Given the description of an element on the screen output the (x, y) to click on. 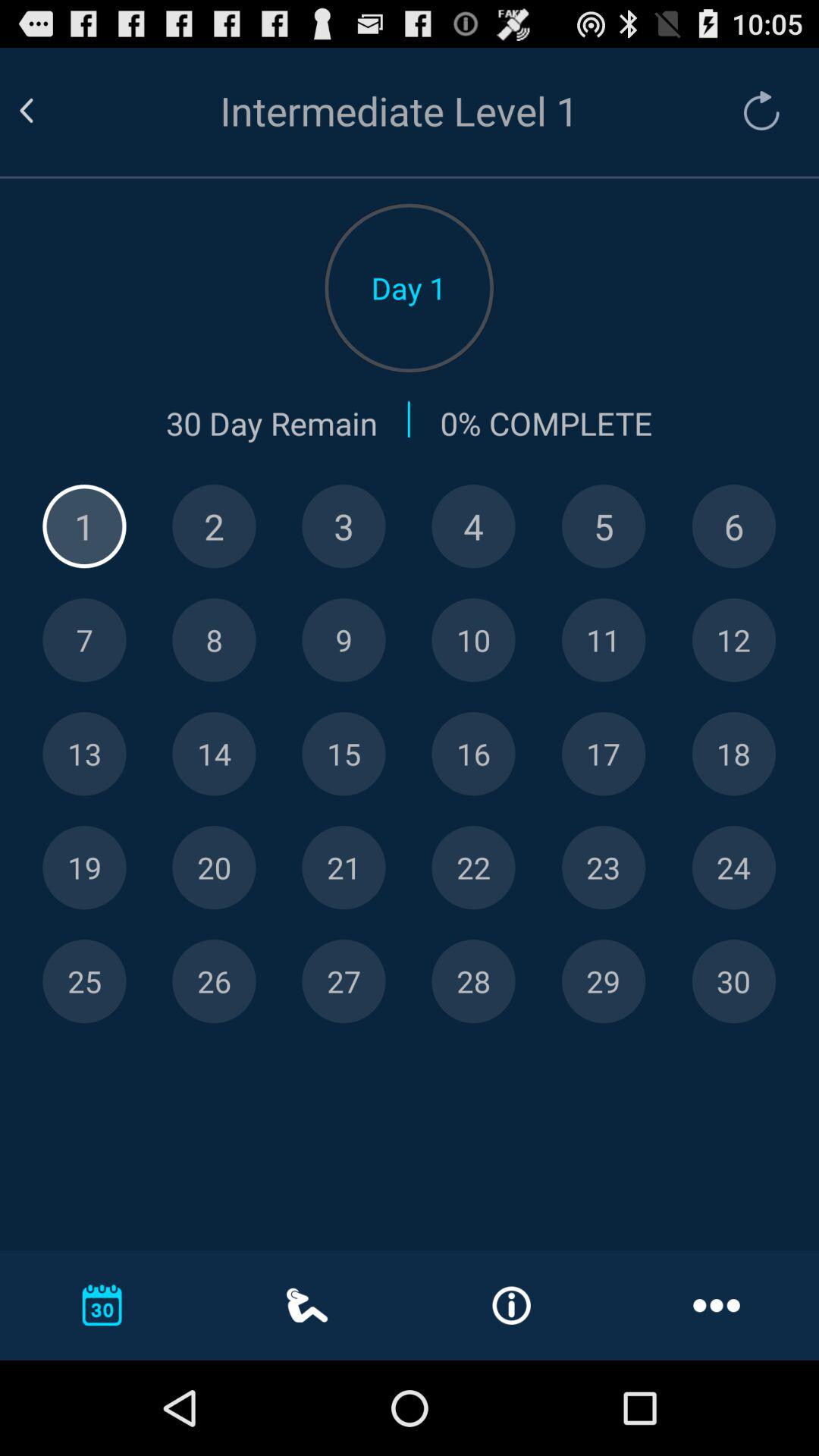
resart the current level of the day (754, 110)
